Given the description of an element on the screen output the (x, y) to click on. 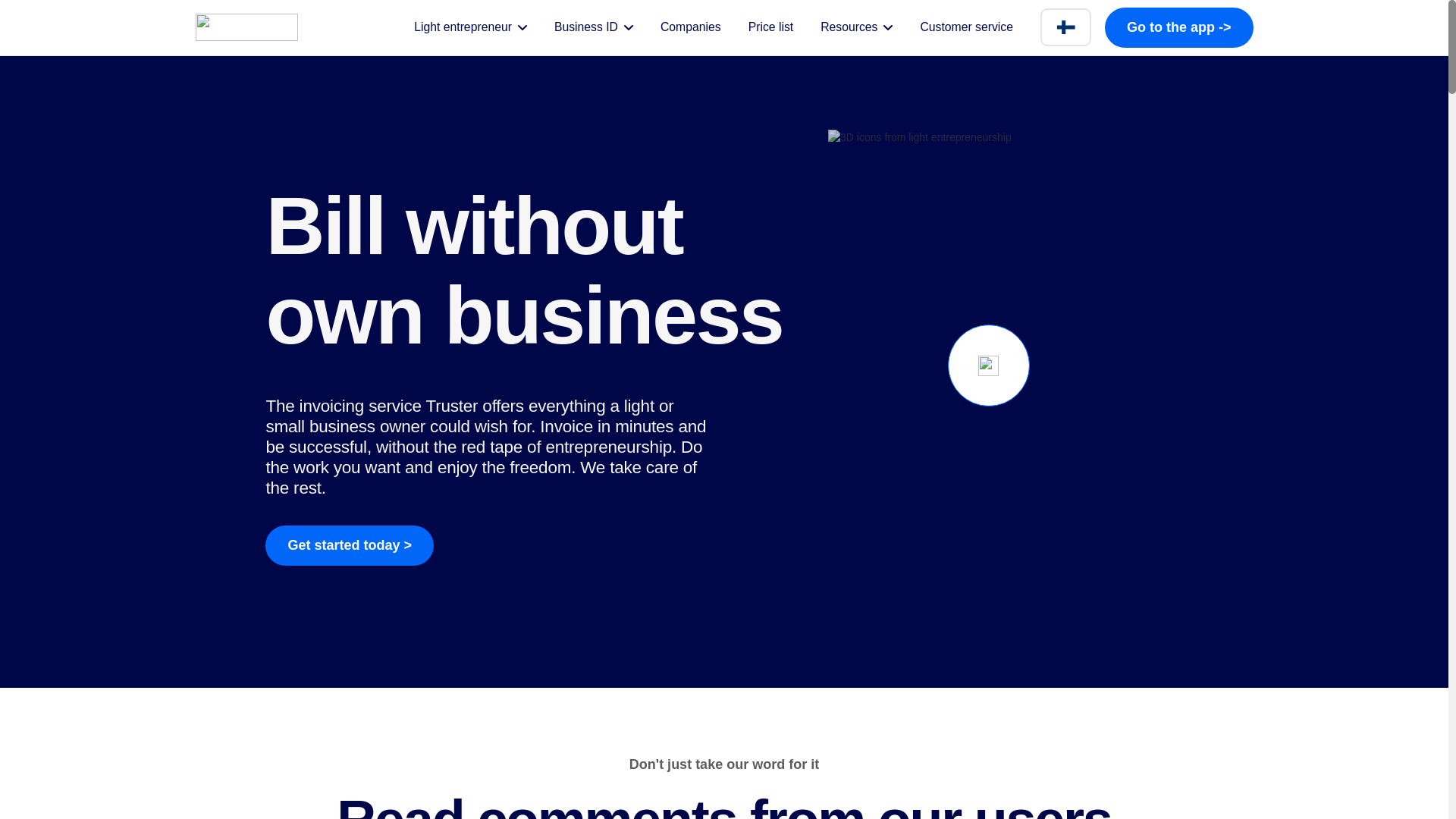
Companies (690, 26)
Price list (770, 26)
Customer service (966, 26)
